Given the description of an element on the screen output the (x, y) to click on. 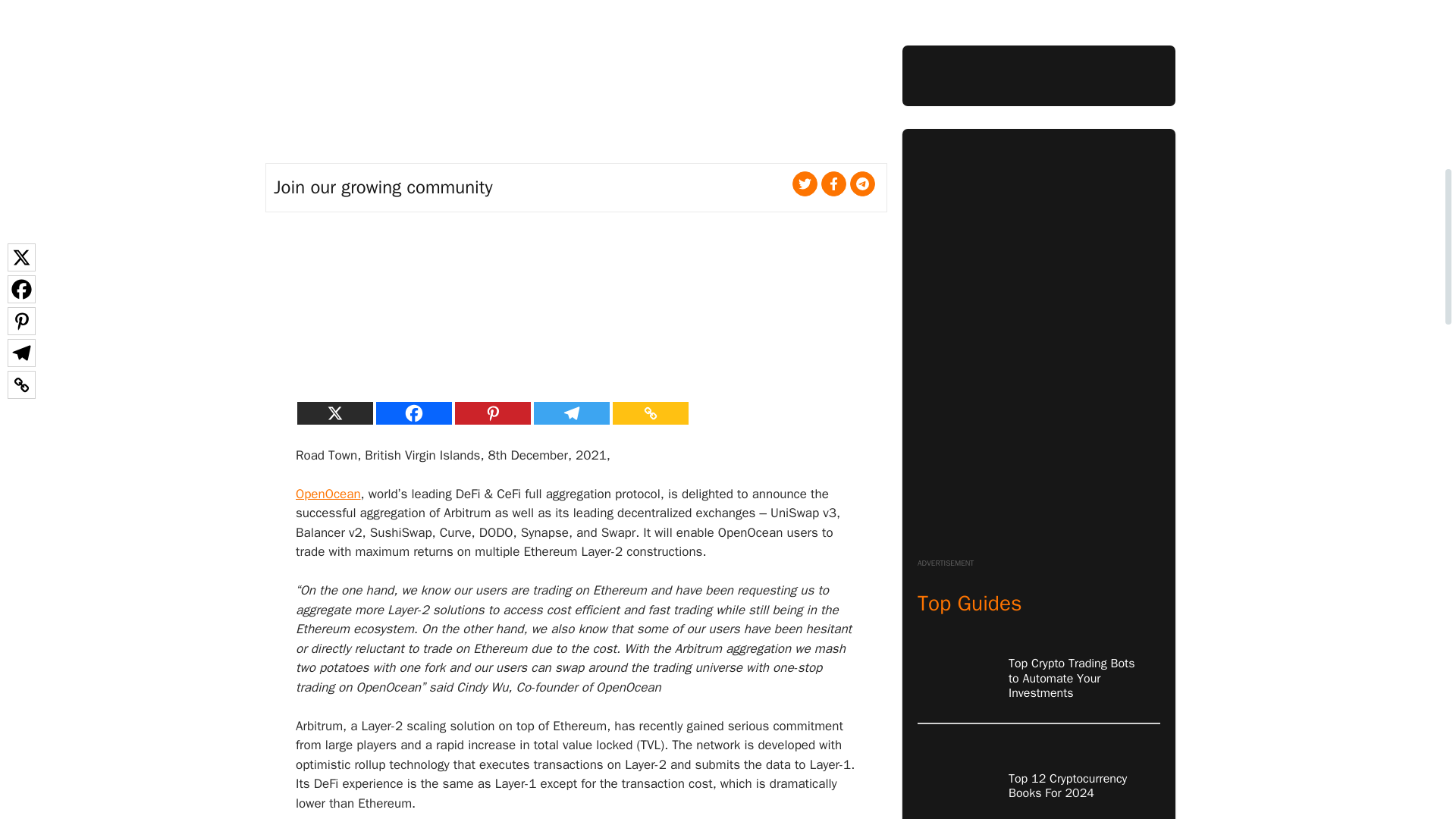
Telegram (572, 413)
Copy Link (650, 413)
X (334, 413)
Pinterest (492, 413)
Facebook (413, 413)
